Given the description of an element on the screen output the (x, y) to click on. 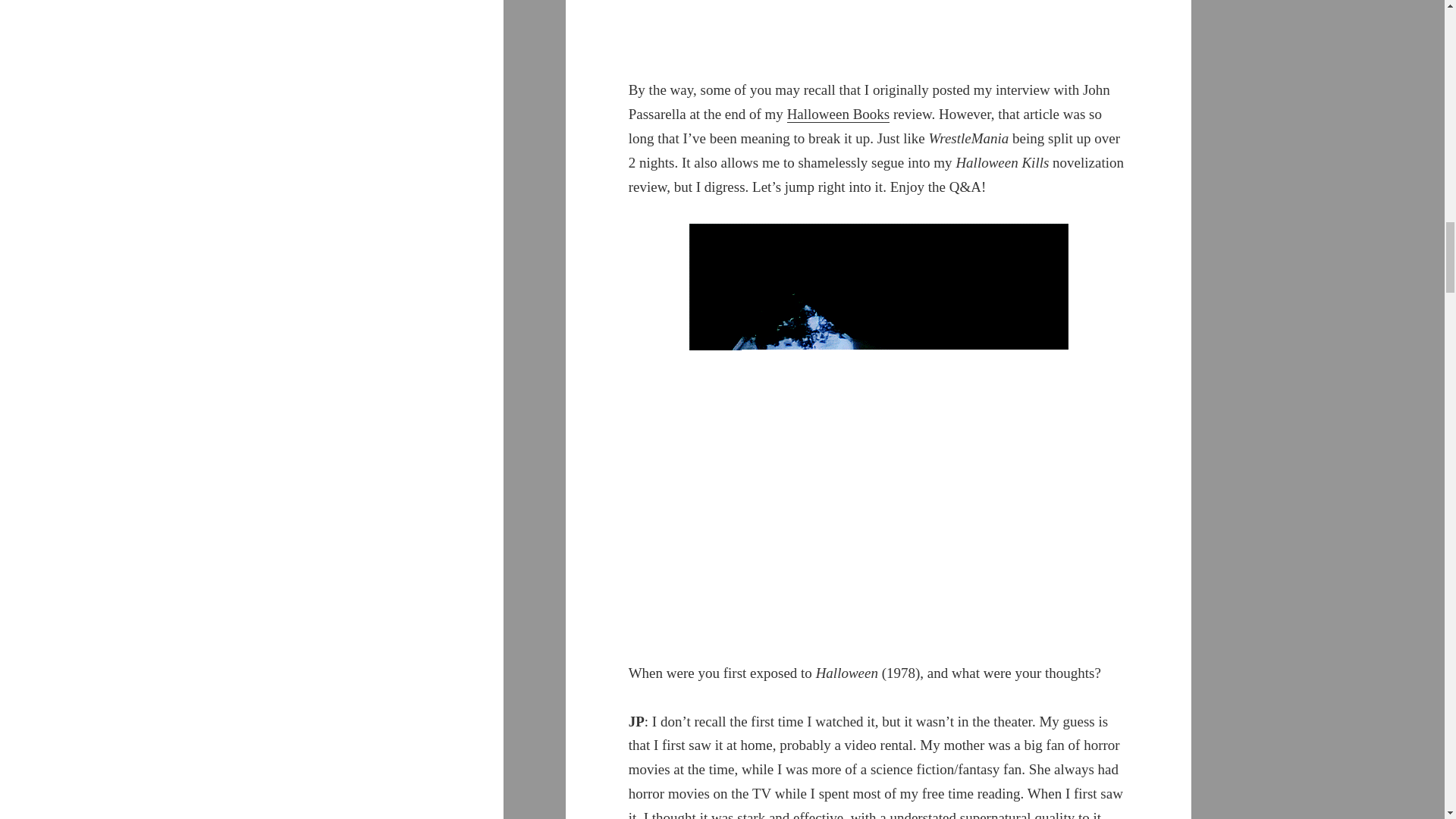
Halloween Books (838, 114)
Halloween Books (838, 114)
